Given the description of an element on the screen output the (x, y) to click on. 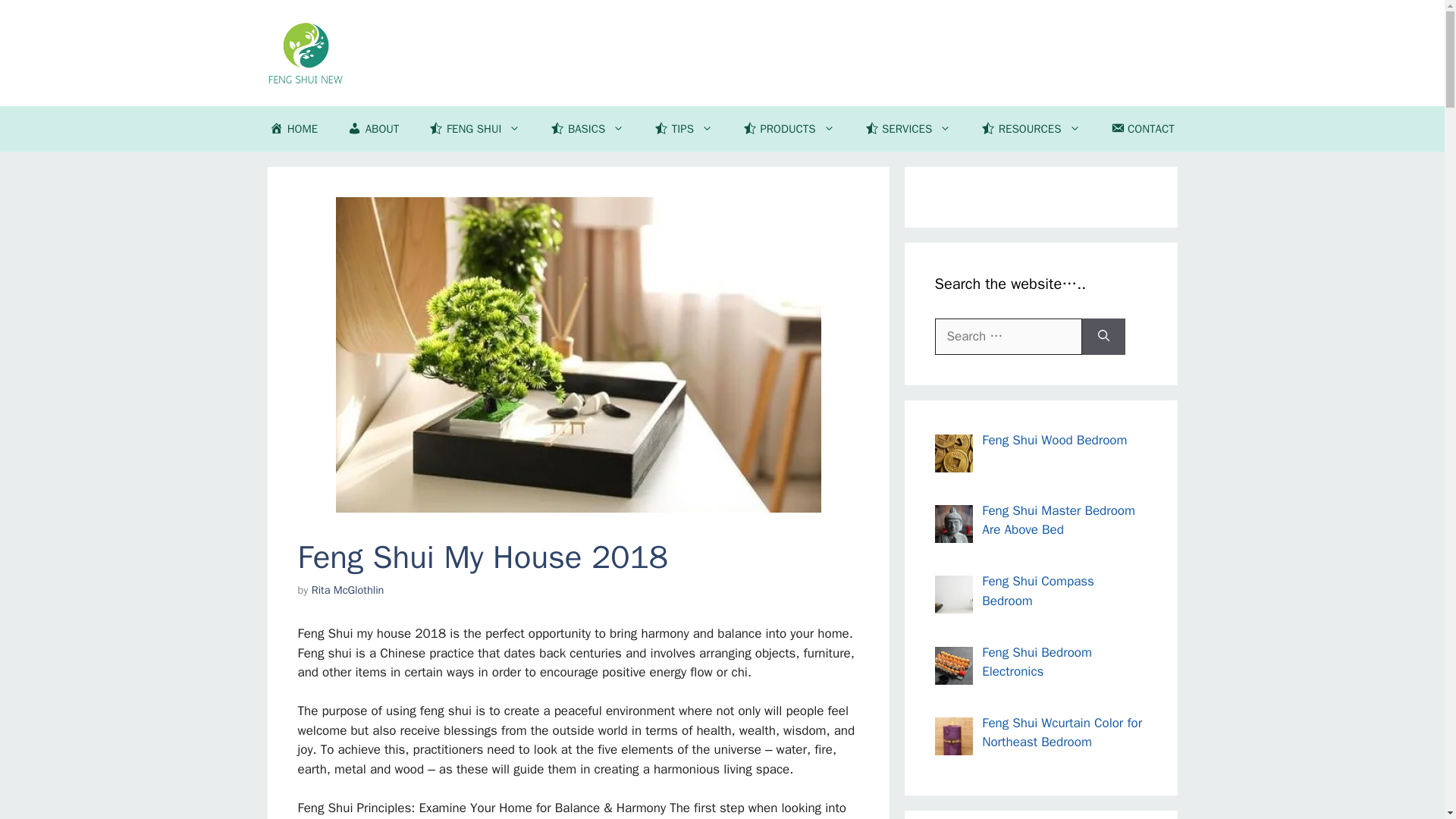
View all posts by Rita McGlothlin (347, 590)
